Given the description of an element on the screen output the (x, y) to click on. 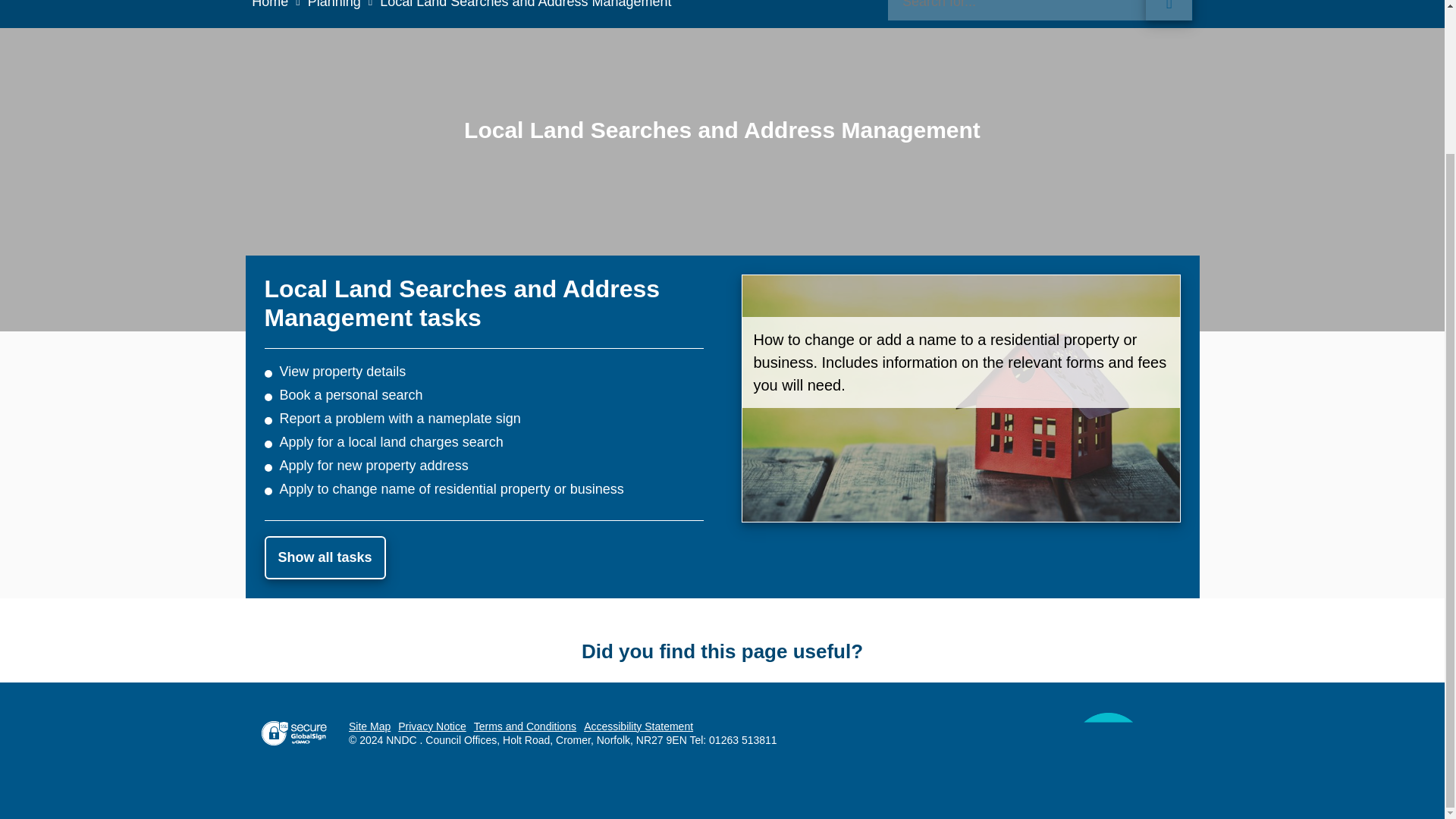
View property details (342, 371)
Report a problem with a nameplate sign (399, 418)
Apply to change name of residential property or business (451, 488)
Home (279, 4)
Apply for a local land charges search (390, 441)
Site Map (369, 726)
Show all tasks (324, 557)
Search (1040, 10)
